Given the description of an element on the screen output the (x, y) to click on. 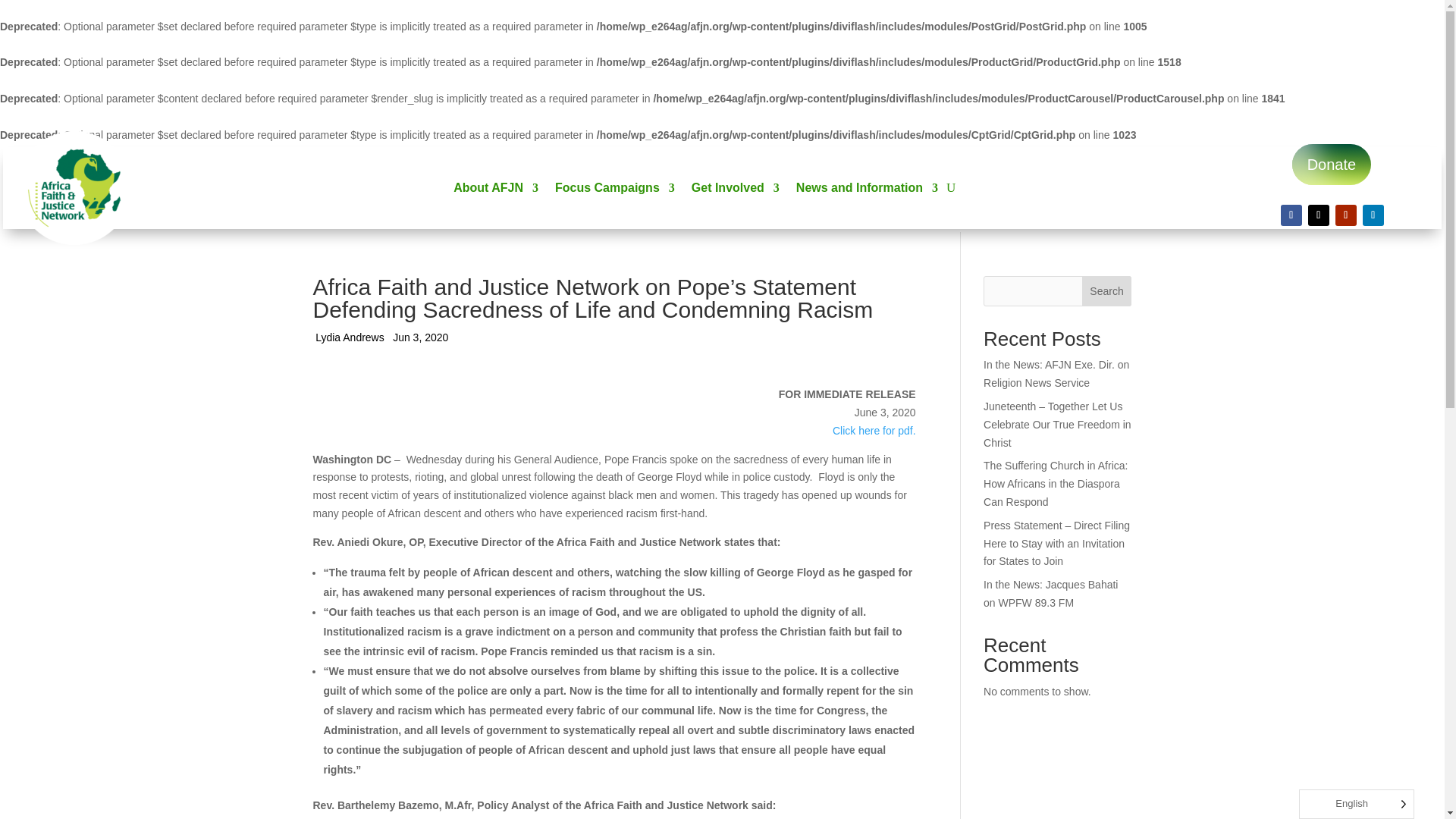
Focus Campaigns (614, 190)
Posts by Lydia Andrews (349, 338)
About AFJN (495, 190)
Follow on Youtube (1345, 215)
Follow on Facebook (1291, 215)
Get Involved (734, 190)
Follow on X (1318, 215)
AFJN Circle Logo 2 (74, 187)
News and Information (866, 190)
Follow on LinkedIn (1373, 215)
